Given the description of an element on the screen output the (x, y) to click on. 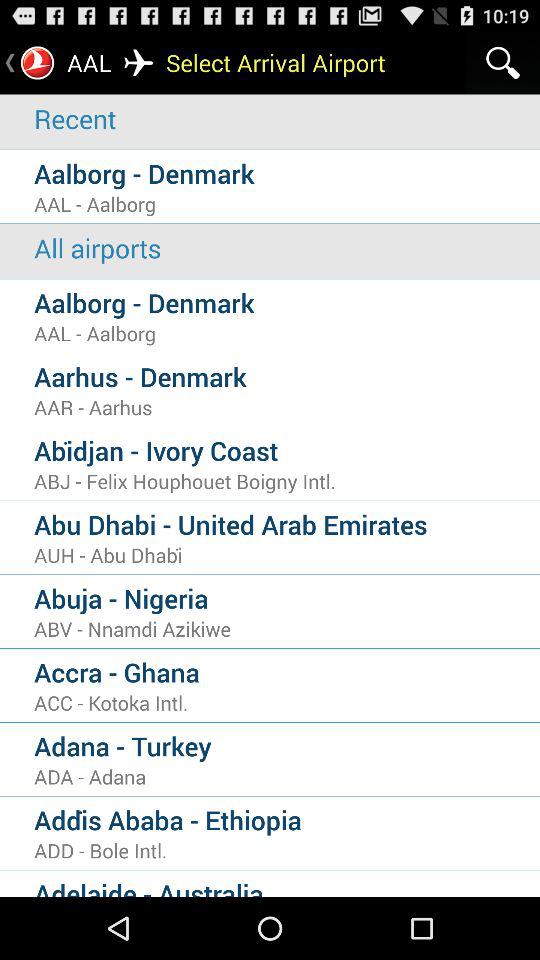
tap the acc - kotoka intl. (287, 702)
